Given the description of an element on the screen output the (x, y) to click on. 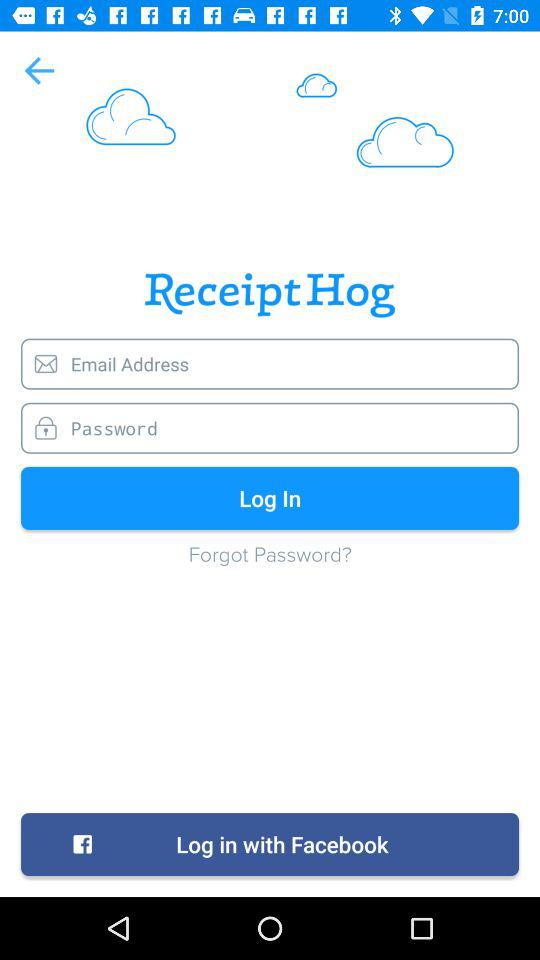
click the forgot password? (270, 563)
